Given the description of an element on the screen output the (x, y) to click on. 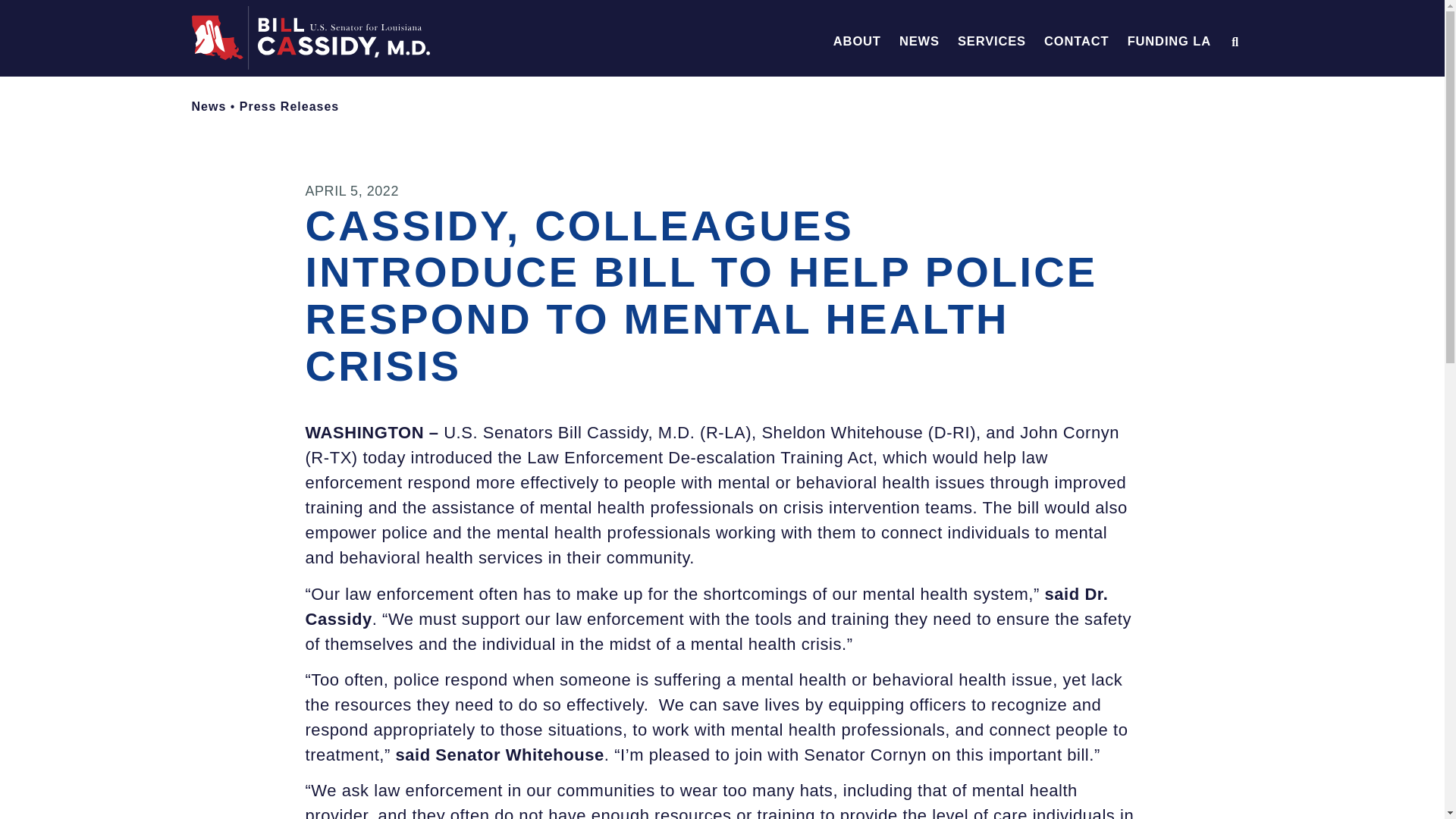
SERVICES (992, 40)
CONTACT (1075, 40)
FUNDING LA (1168, 40)
